Given the description of an element on the screen output the (x, y) to click on. 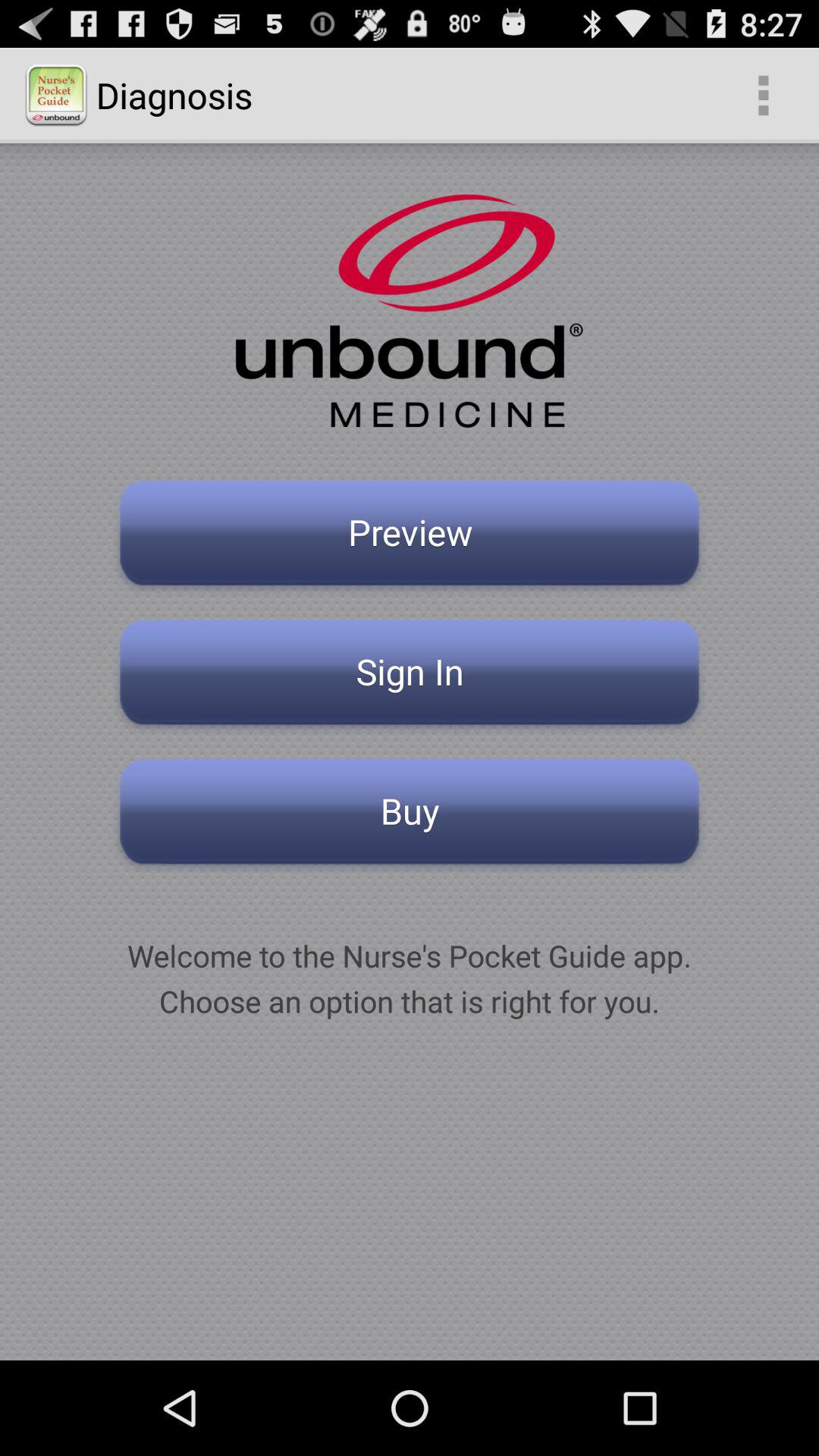
select preview item (409, 537)
